Given the description of an element on the screen output the (x, y) to click on. 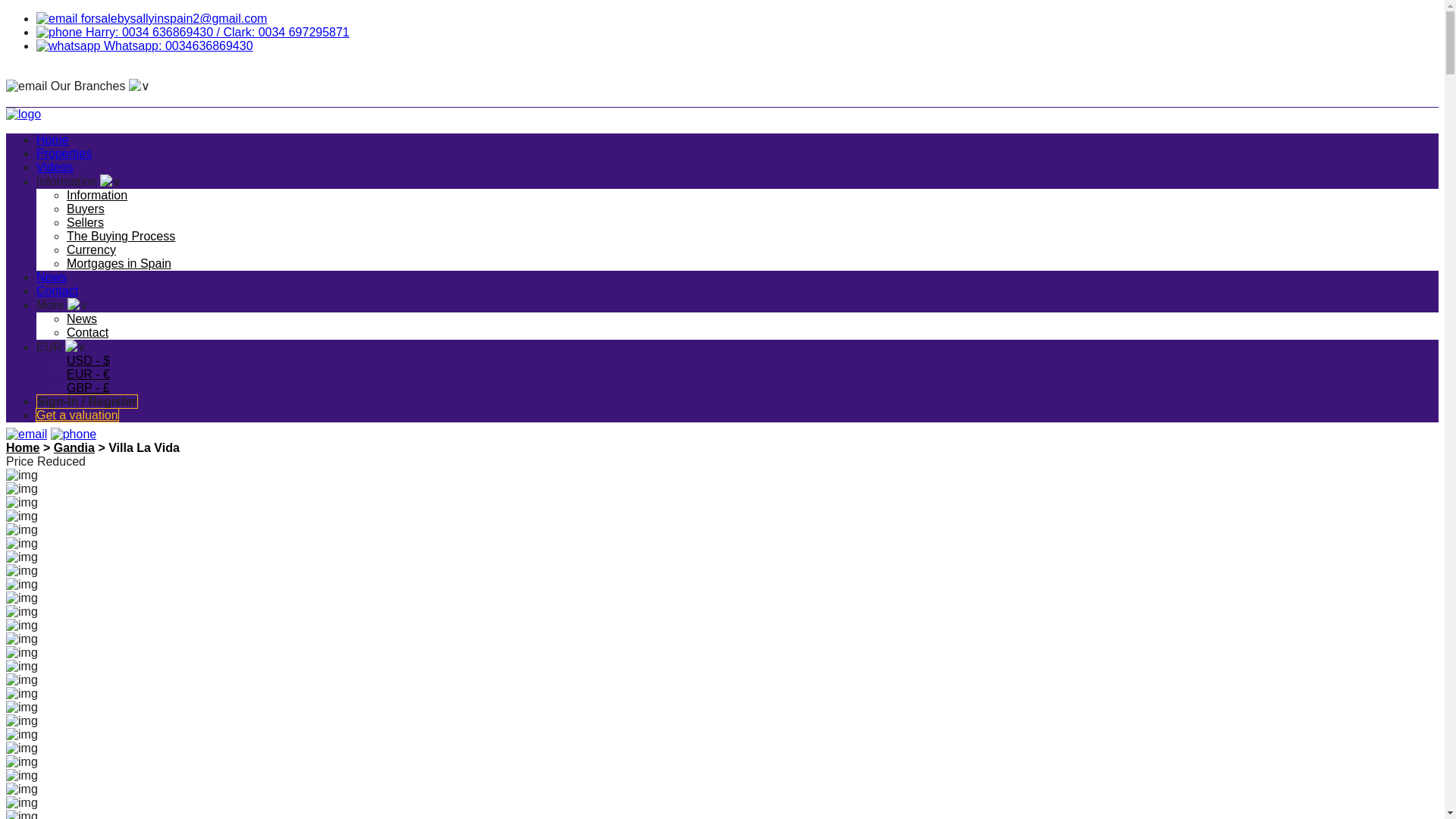
Properties (63, 153)
Contact (86, 332)
Buyers (85, 208)
EUR (60, 346)
Select Currency (60, 346)
Mortgages in Spain (118, 263)
News (51, 277)
Currency (91, 249)
News (81, 318)
Videos (55, 166)
Home (22, 447)
US Dollar Currency (88, 359)
Contact (57, 290)
Whatsapp: 0034636869430 (144, 45)
Information (78, 181)
